Given the description of an element on the screen output the (x, y) to click on. 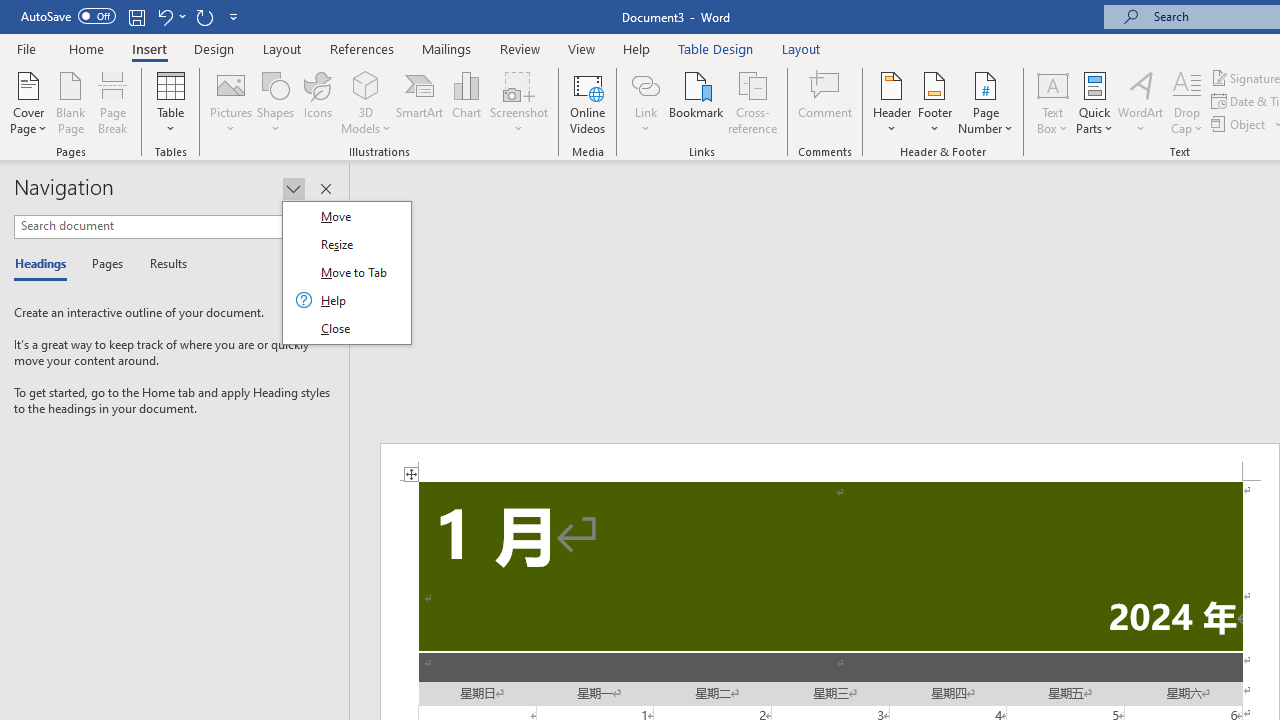
Online Videos... (588, 102)
3D Models (366, 102)
Header -Section 1- (830, 461)
Class: Net UI Tool Window (346, 272)
Quick Parts (1094, 102)
Chart... (466, 102)
Undo Increase Indent (170, 15)
